Given the description of an element on the screen output the (x, y) to click on. 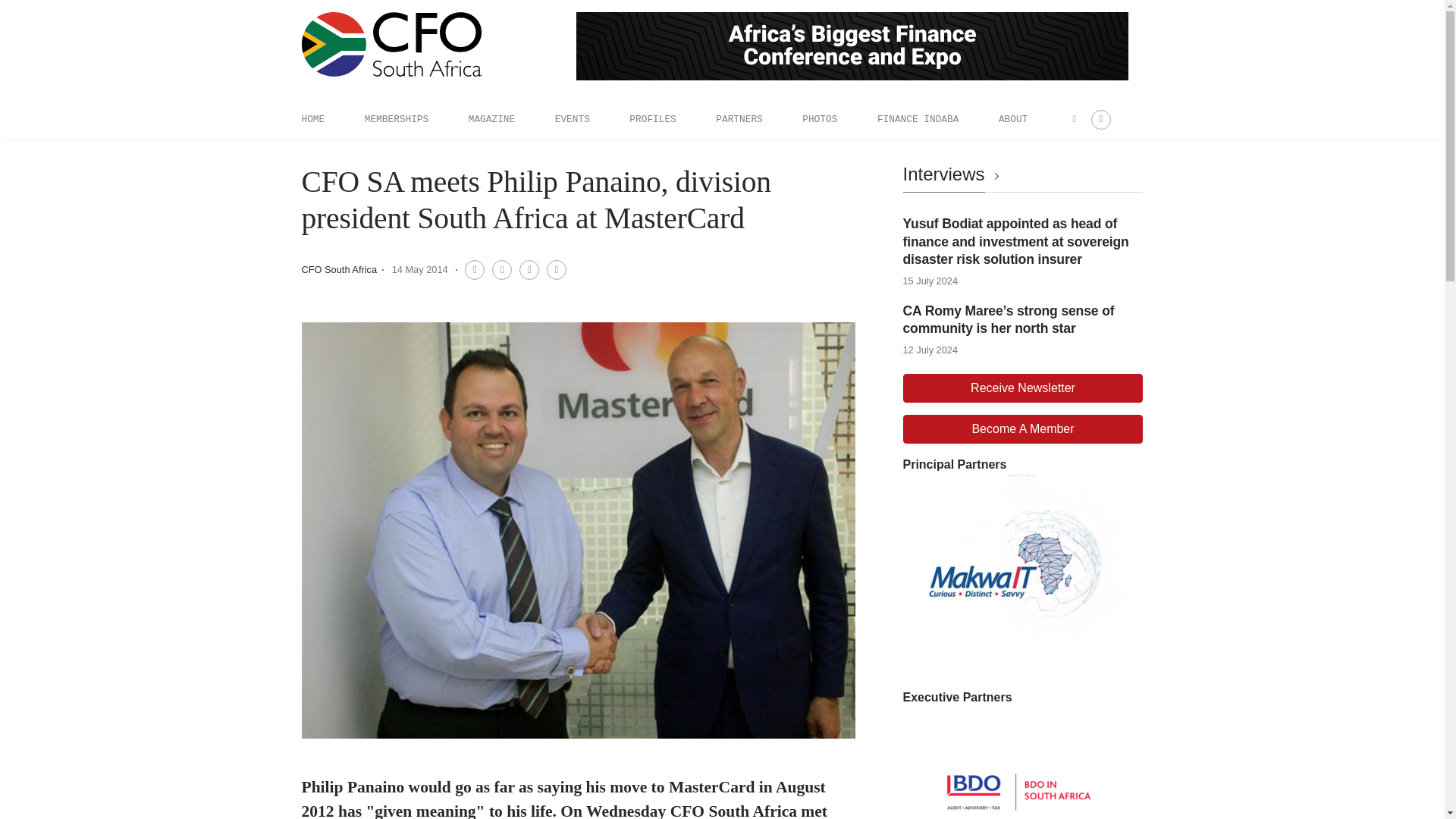
ABOUT (1012, 119)
Receive Newsletter (1022, 387)
MEMBERSHIPS (396, 119)
CFO South Africa (339, 269)
PROFILES (651, 119)
PHOTOS (819, 119)
MAGAZINE (491, 119)
Become A Member (1022, 428)
HOME (312, 119)
PARTNERS (738, 119)
FINANCE INDABA (918, 119)
EVENTS (571, 119)
